Given the description of an element on the screen output the (x, y) to click on. 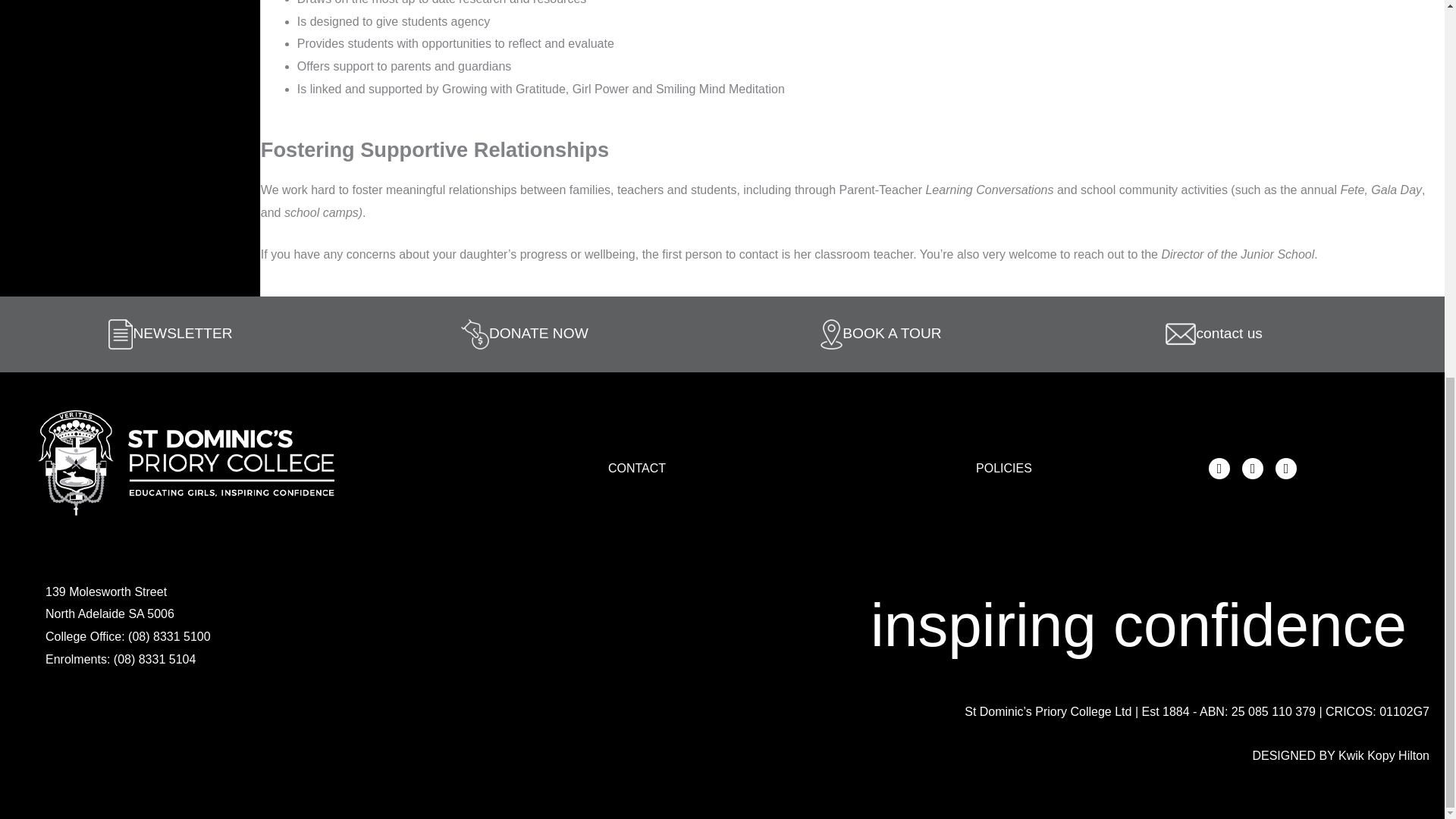
instagram (1252, 468)
LinkedIn (1286, 468)
Facebook (1219, 468)
